Given the description of an element on the screen output the (x, y) to click on. 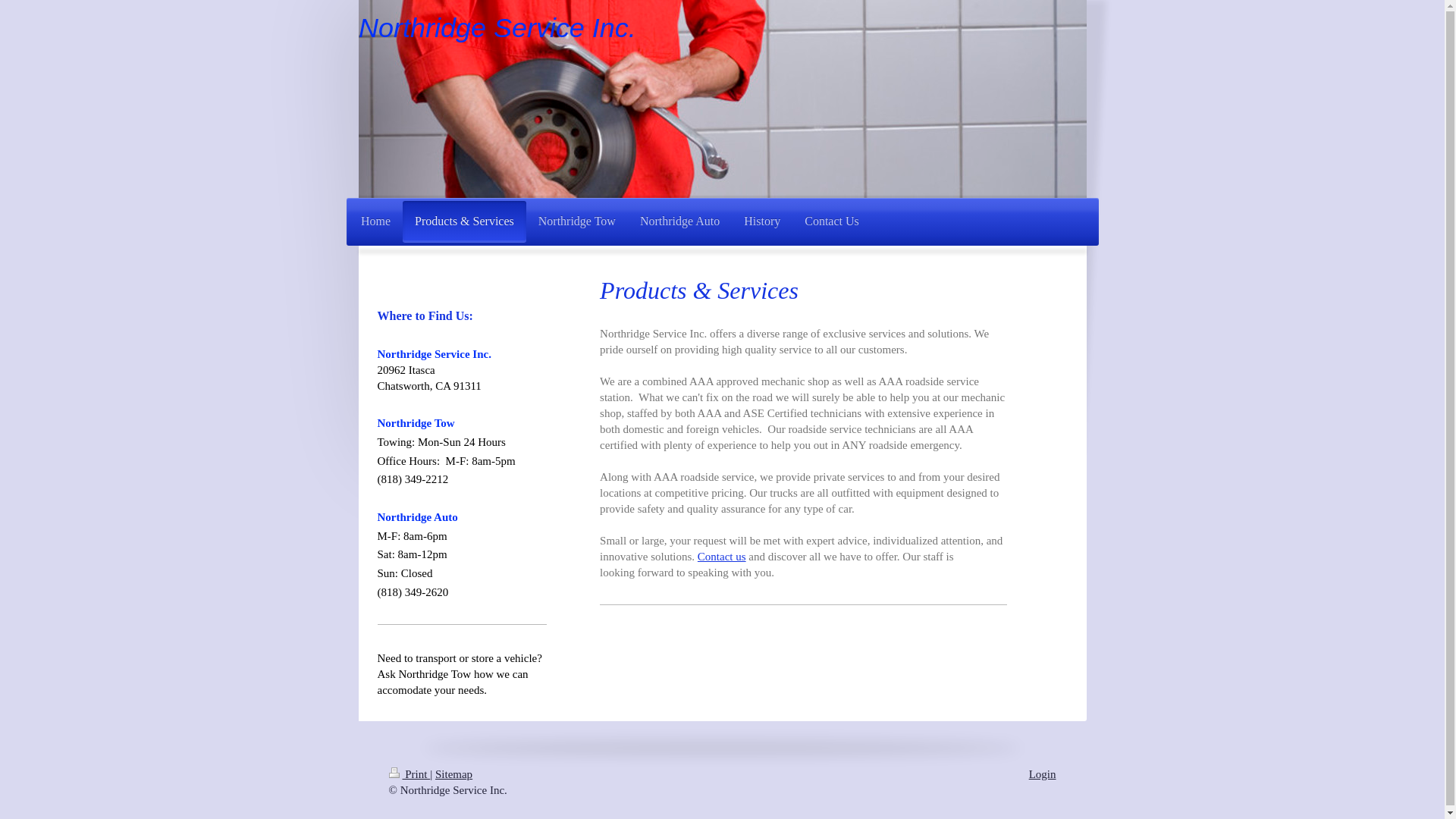
Print (408, 774)
Contact Us (831, 220)
History (762, 220)
Home (376, 220)
Contact us (721, 556)
Northridge Tow (576, 220)
Northridge Service Inc. (496, 27)
Login (1043, 774)
Northridge Auto (679, 220)
Sitemap (453, 774)
